Given the description of an element on the screen output the (x, y) to click on. 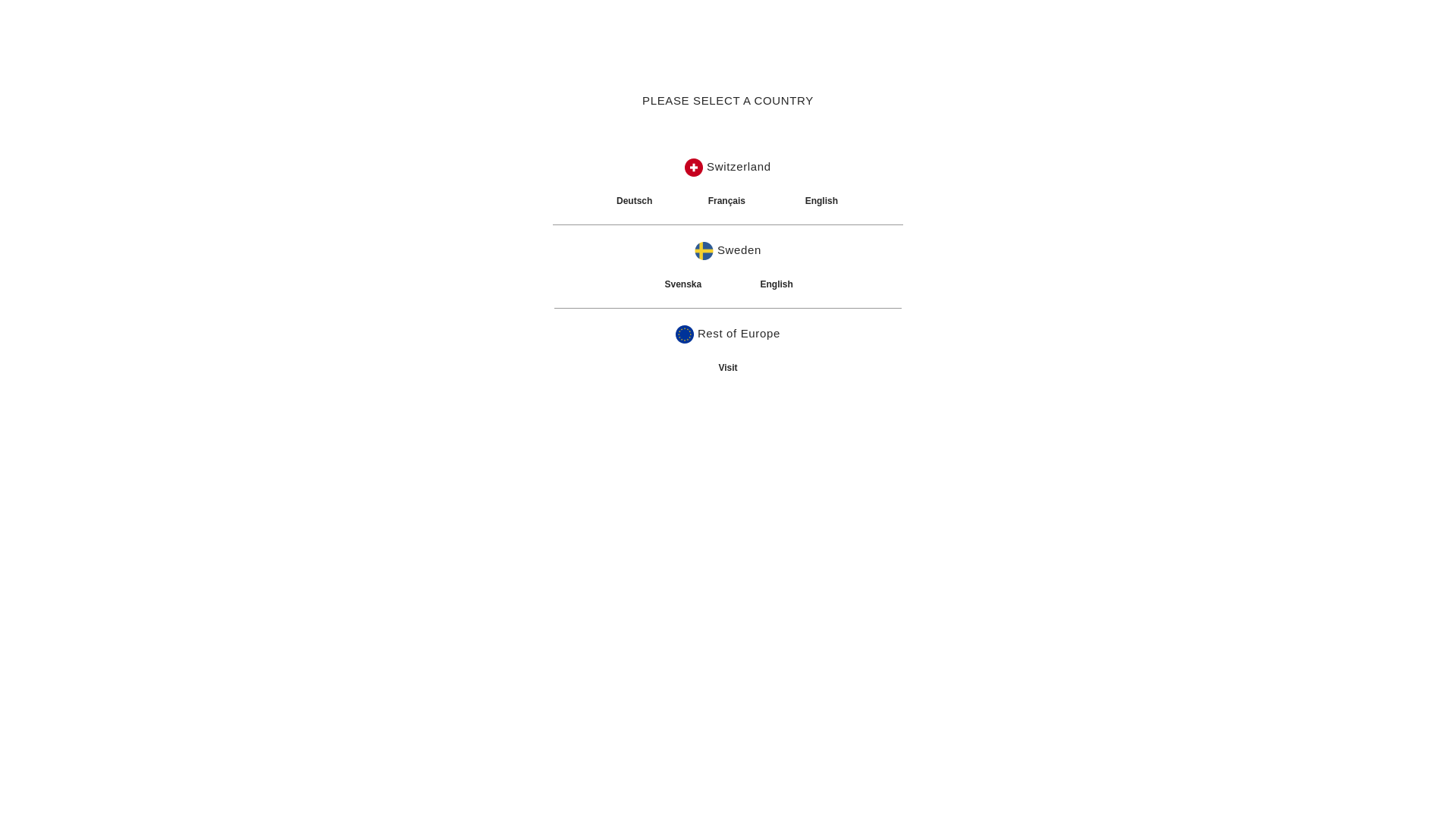
Svenska Element type: text (682, 284)
Deutsch Element type: text (634, 200)
Visit Element type: text (727, 367)
English Element type: text (775, 284)
English Element type: text (821, 200)
